Given the description of an element on the screen output the (x, y) to click on. 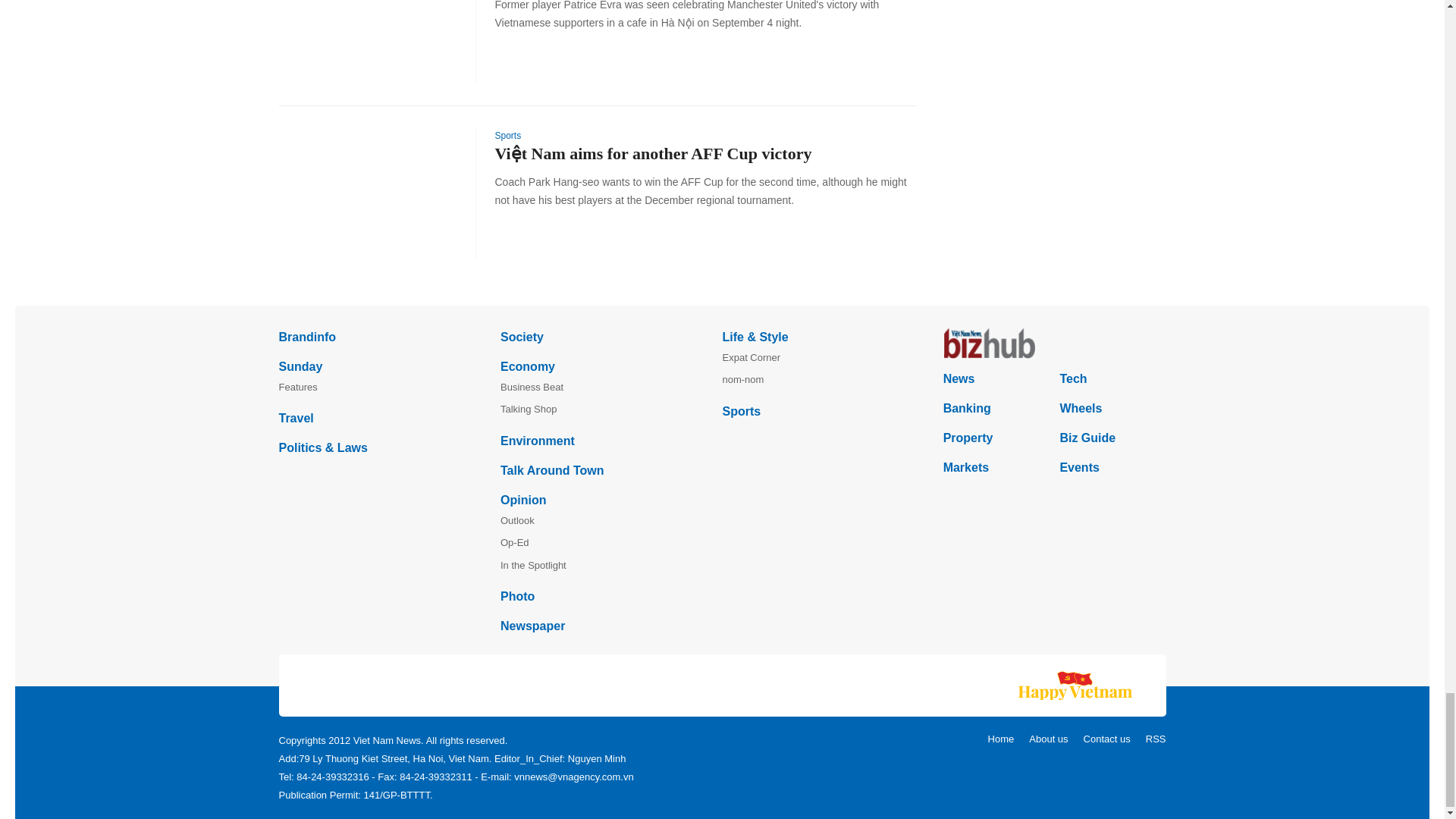
bizhub (1054, 343)
